Given the description of an element on the screen output the (x, y) to click on. 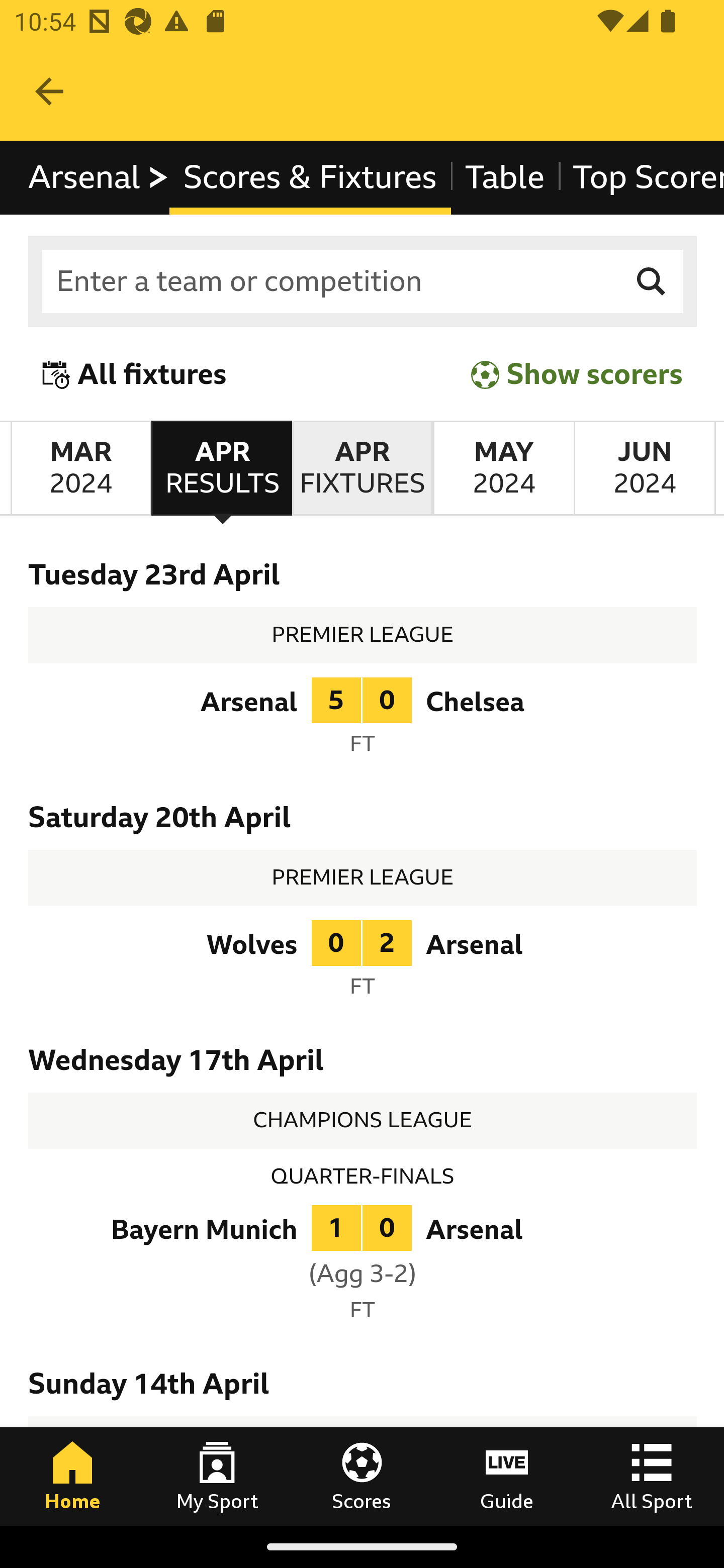
Navigate up (49, 91)
Arsenal  (99, 177)
Scores & Fixtures (309, 177)
Table (504, 177)
Search (651, 282)
All fixtures (134, 374)
Show scorers (576, 374)
March2024 March 2024 (80, 468)
AprilRESULTS, Selected April RESULTS , Selected (221, 468)
AprilFIXTURES April FIXTURES (361, 468)
May2024 May 2024 (502, 468)
June2024 June 2024 (644, 468)
68519746 Arsenal 5 Chelsea 0 Full Time (362, 720)
My Sport (216, 1475)
Scores (361, 1475)
Guide (506, 1475)
All Sport (651, 1475)
